Given the description of an element on the screen output the (x, y) to click on. 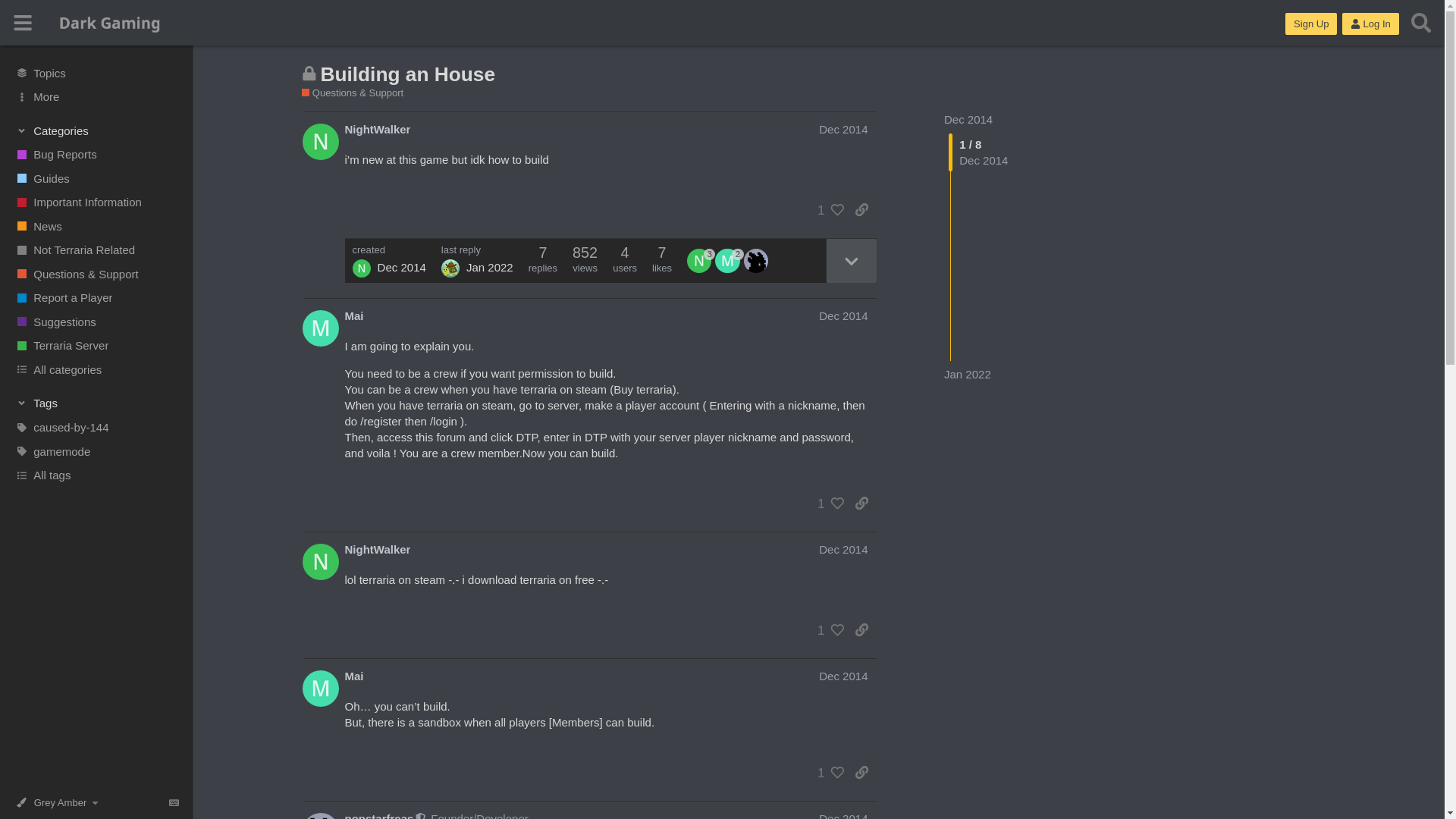
All tags (96, 475)
1 (826, 209)
Toggle section (96, 130)
Categories (96, 130)
Topics (96, 72)
Building an House (407, 74)
All topics (96, 72)
Grey Amber (60, 802)
News (96, 225)
Guides (96, 178)
All categories (96, 369)
A place to suggest features for any of our services. (96, 322)
Jan 2022 (967, 374)
Dec 2014 (842, 128)
